Given the description of an element on the screen output the (x, y) to click on. 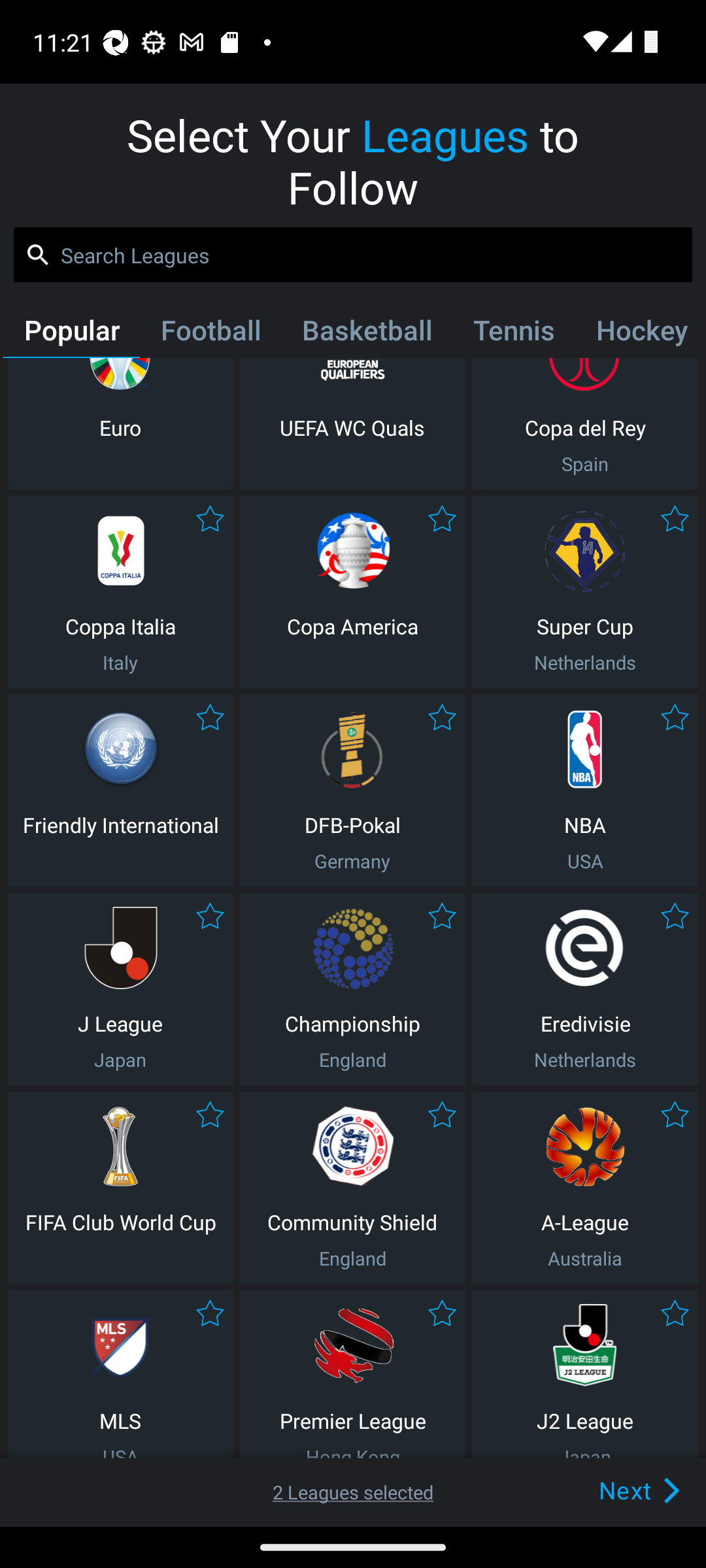
Search Leagues (352, 254)
Popular (71, 333)
Football (209, 333)
Basketball (366, 333)
Tennis (513, 333)
Hockey (638, 333)
Euro (120, 423)
UEFA WC Quals (352, 423)
Copa del Rey Spain (585, 423)
Coppa Italia Italy (120, 591)
Copa America (352, 591)
Super Cup Netherlands (585, 591)
Friendly International (120, 789)
DFB-Pokal Germany (352, 789)
NBA USA (585, 789)
J League Japan (120, 989)
Championship England (352, 989)
Eredivisie Netherlands (585, 989)
FIFA Club World Cup (120, 1187)
Community Shield England (352, 1187)
A-League Australia (585, 1187)
MLS USA (120, 1374)
Premier League Hong Kong (352, 1374)
J2 League Japan (585, 1374)
Next (609, 1489)
2 Leagues selected (352, 1491)
